Given the description of an element on the screen output the (x, y) to click on. 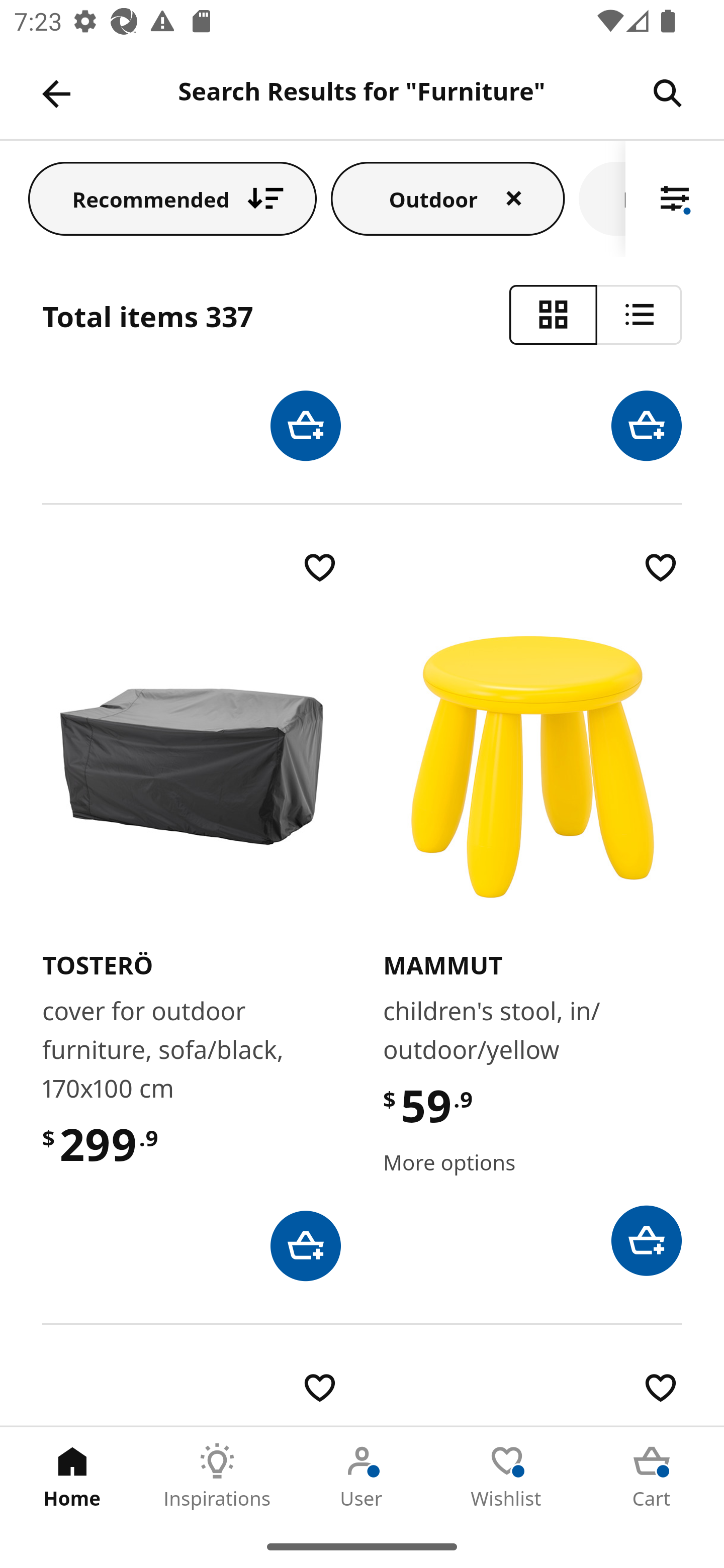
Recommended (172, 198)
Outdoor (447, 198)
Home
Tab 1 of 5 (72, 1476)
Inspirations
Tab 2 of 5 (216, 1476)
User
Tab 3 of 5 (361, 1476)
Wishlist
Tab 4 of 5 (506, 1476)
Cart
Tab 5 of 5 (651, 1476)
